Given the description of an element on the screen output the (x, y) to click on. 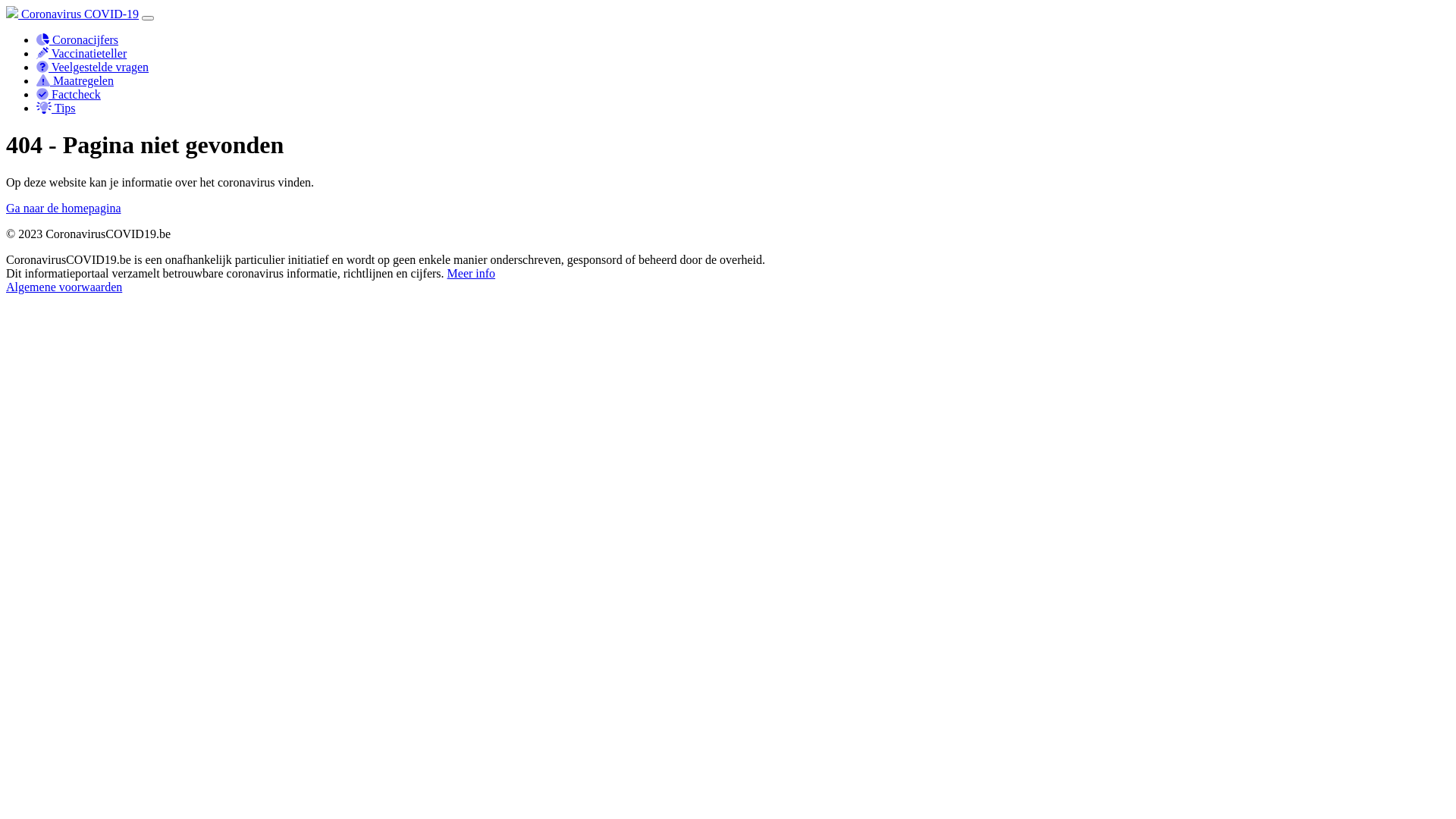
Maatregelen Element type: text (74, 80)
Veelgestelde vragen Element type: text (92, 66)
Vaccinatieteller Element type: text (81, 53)
Coronacijfers Element type: text (77, 39)
Meer info Element type: text (471, 272)
Ga naar de homepagina Element type: text (63, 207)
Tips Element type: text (55, 107)
Algemene voorwaarden Element type: text (64, 286)
Factcheck Element type: text (68, 93)
Coronavirus COVID-19 Element type: text (72, 13)
